Given the description of an element on the screen output the (x, y) to click on. 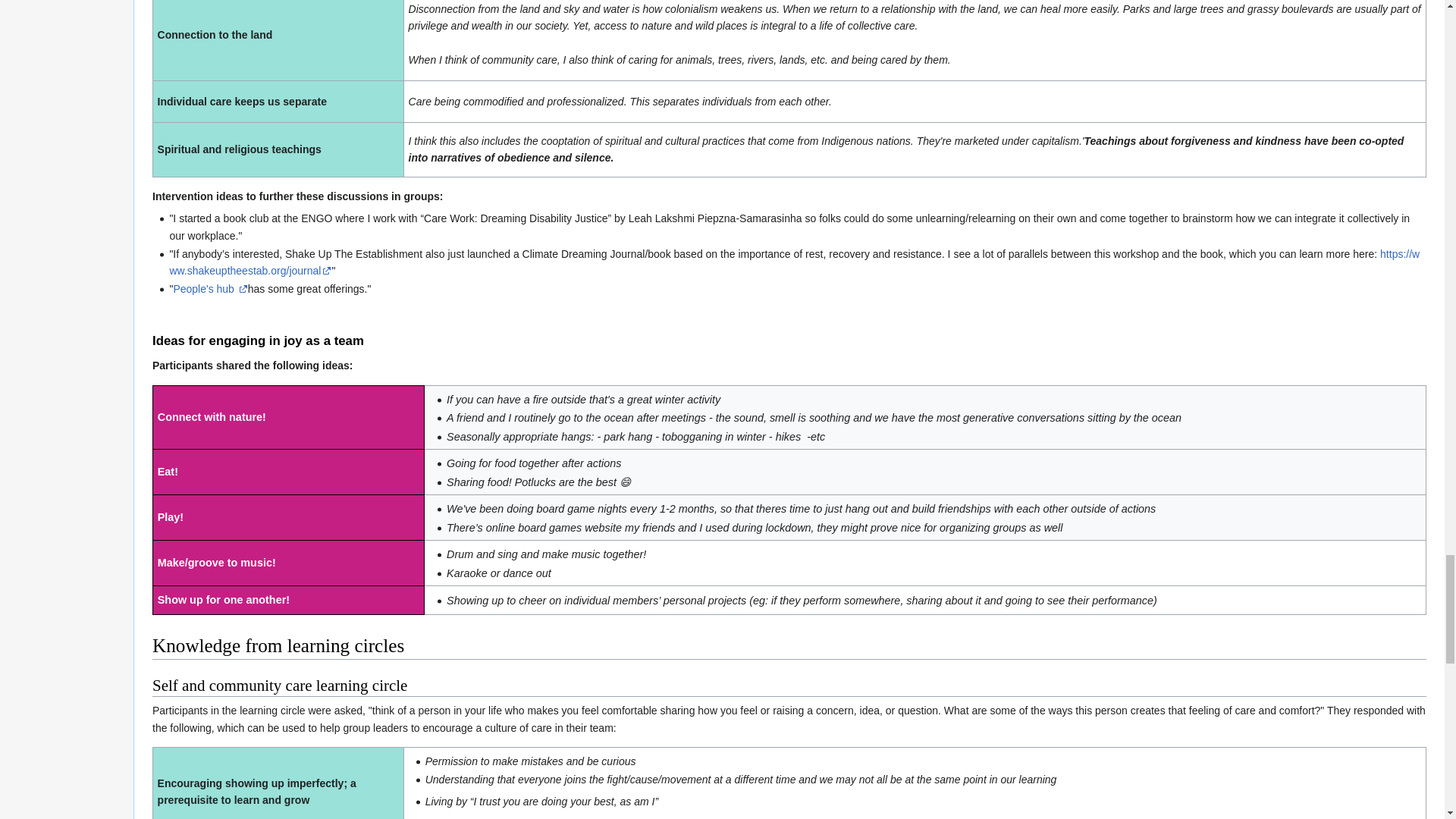
People's hub (210, 288)
